Given the description of an element on the screen output the (x, y) to click on. 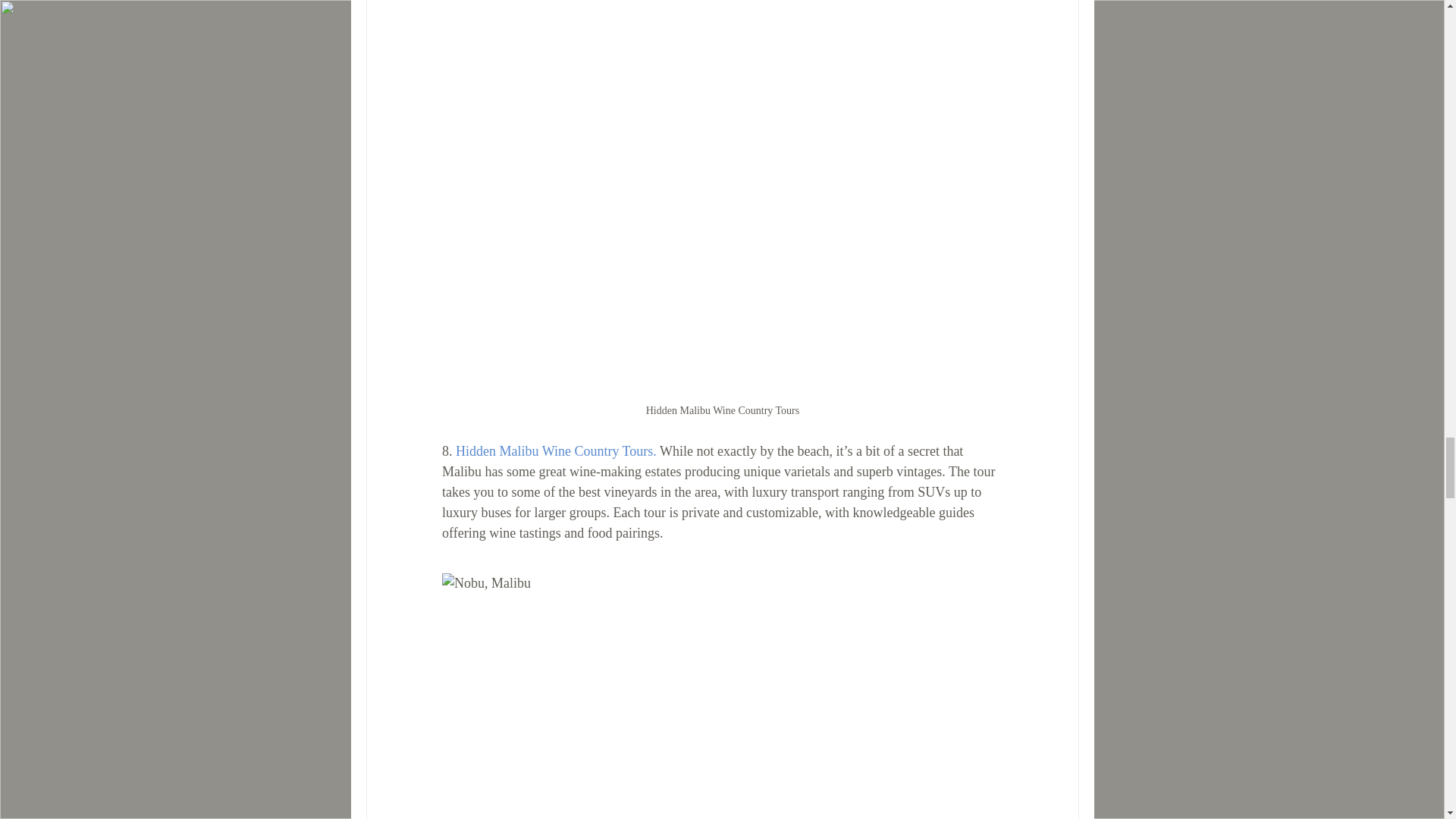
Hidden Malibu Wine Country Tours. (555, 450)
